Given the description of an element on the screen output the (x, y) to click on. 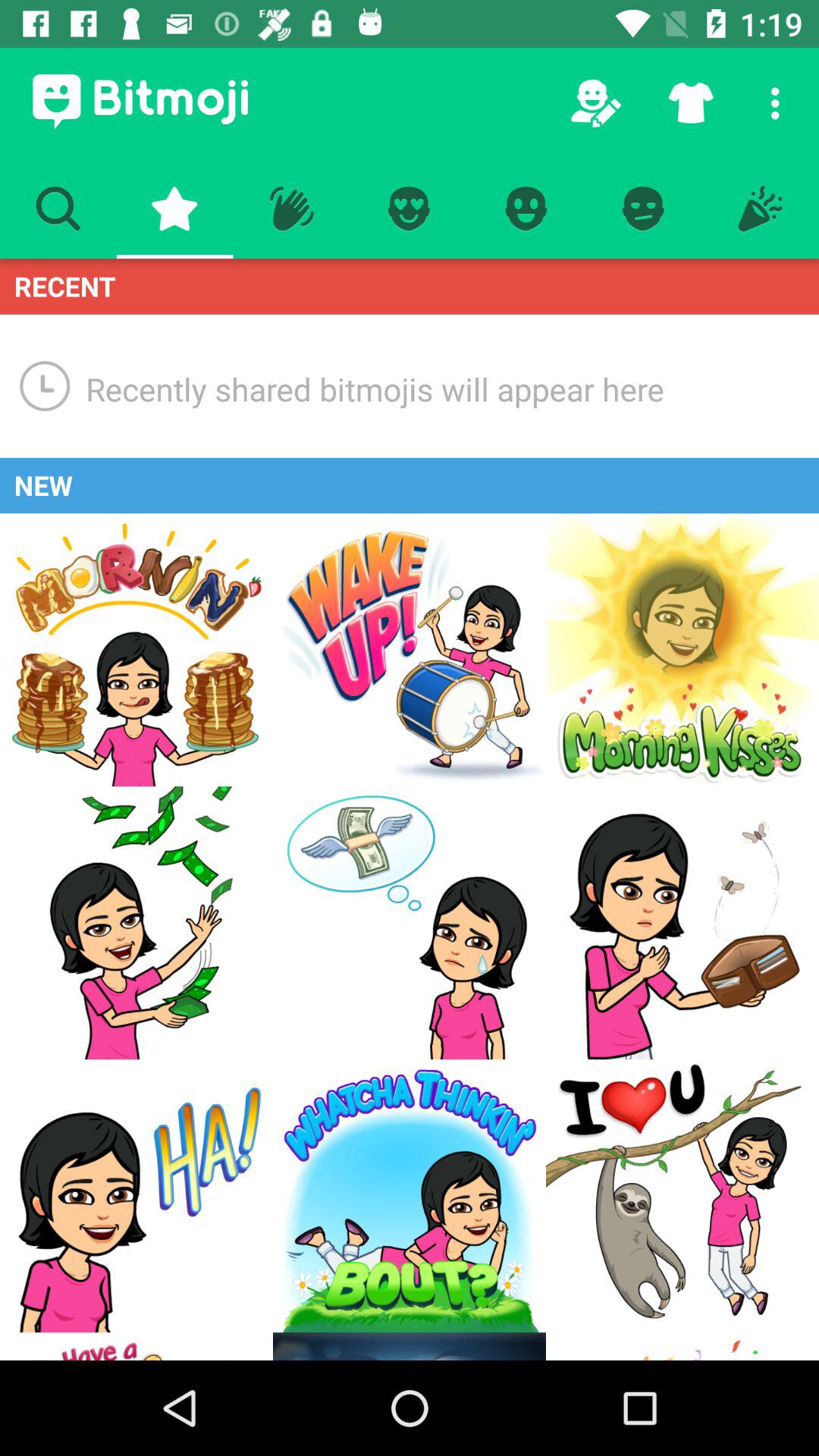
go to a new option (682, 1195)
